Given the description of an element on the screen output the (x, y) to click on. 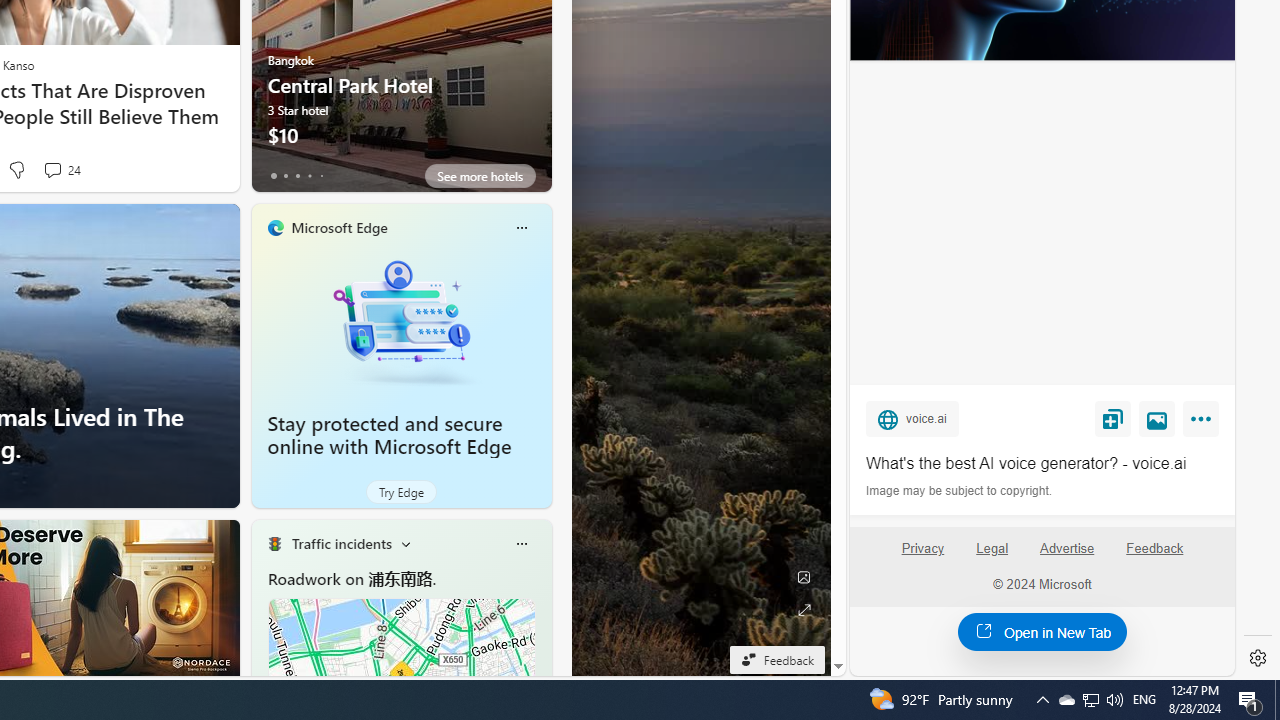
Stay protected and secure online with Microsoft Edge (389, 435)
Legal (992, 557)
Advertise (1066, 547)
tab-4 (320, 175)
Expand background (803, 610)
Save (1112, 419)
Settings (1258, 658)
View comments 24 Comment (52, 169)
voice.ai (912, 419)
Microsoft Edge (338, 227)
Traffic incidents (340, 543)
